Given the description of an element on the screen output the (x, y) to click on. 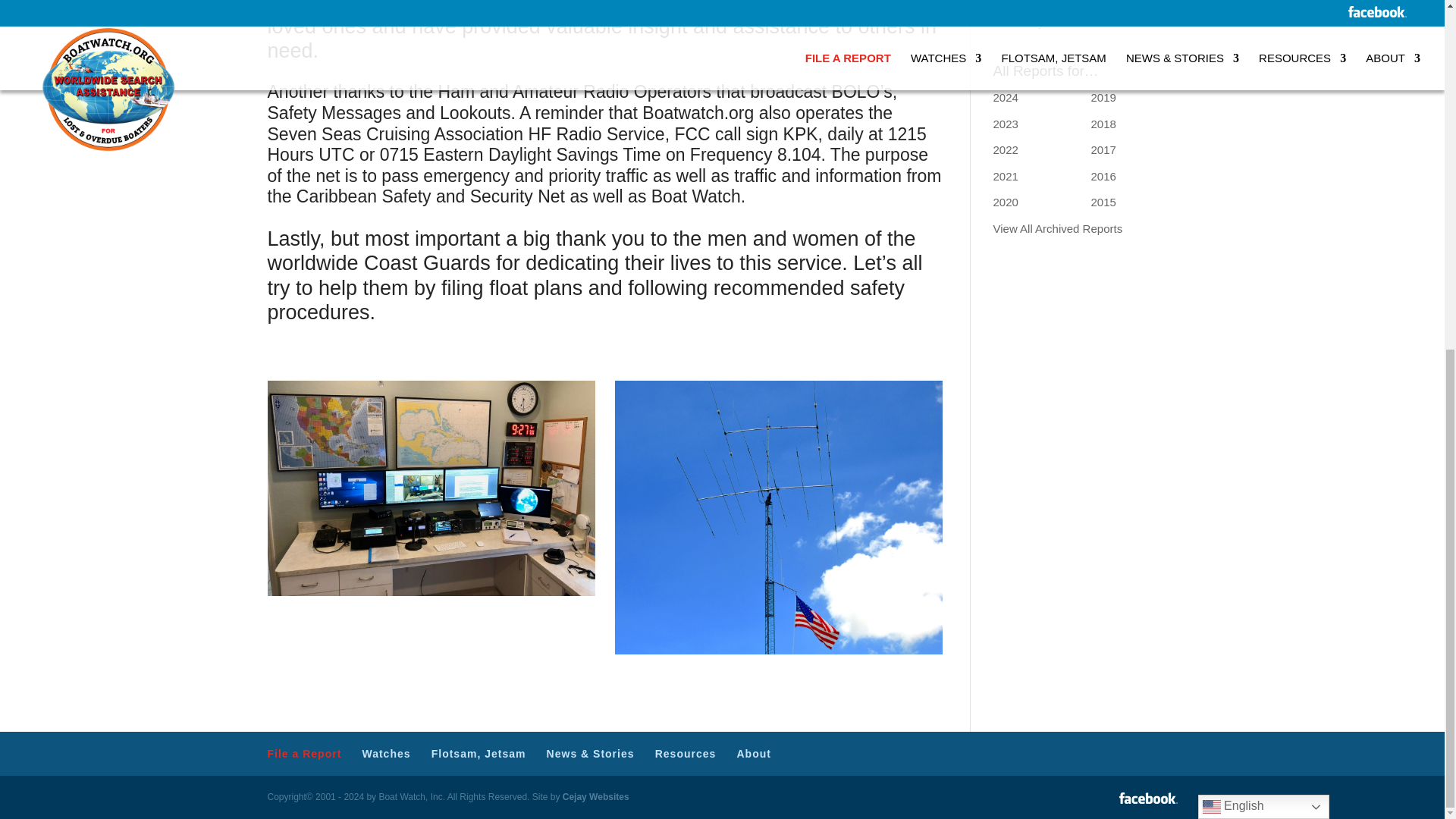
Flag copy 2 (778, 517)
